Given the description of an element on the screen output the (x, y) to click on. 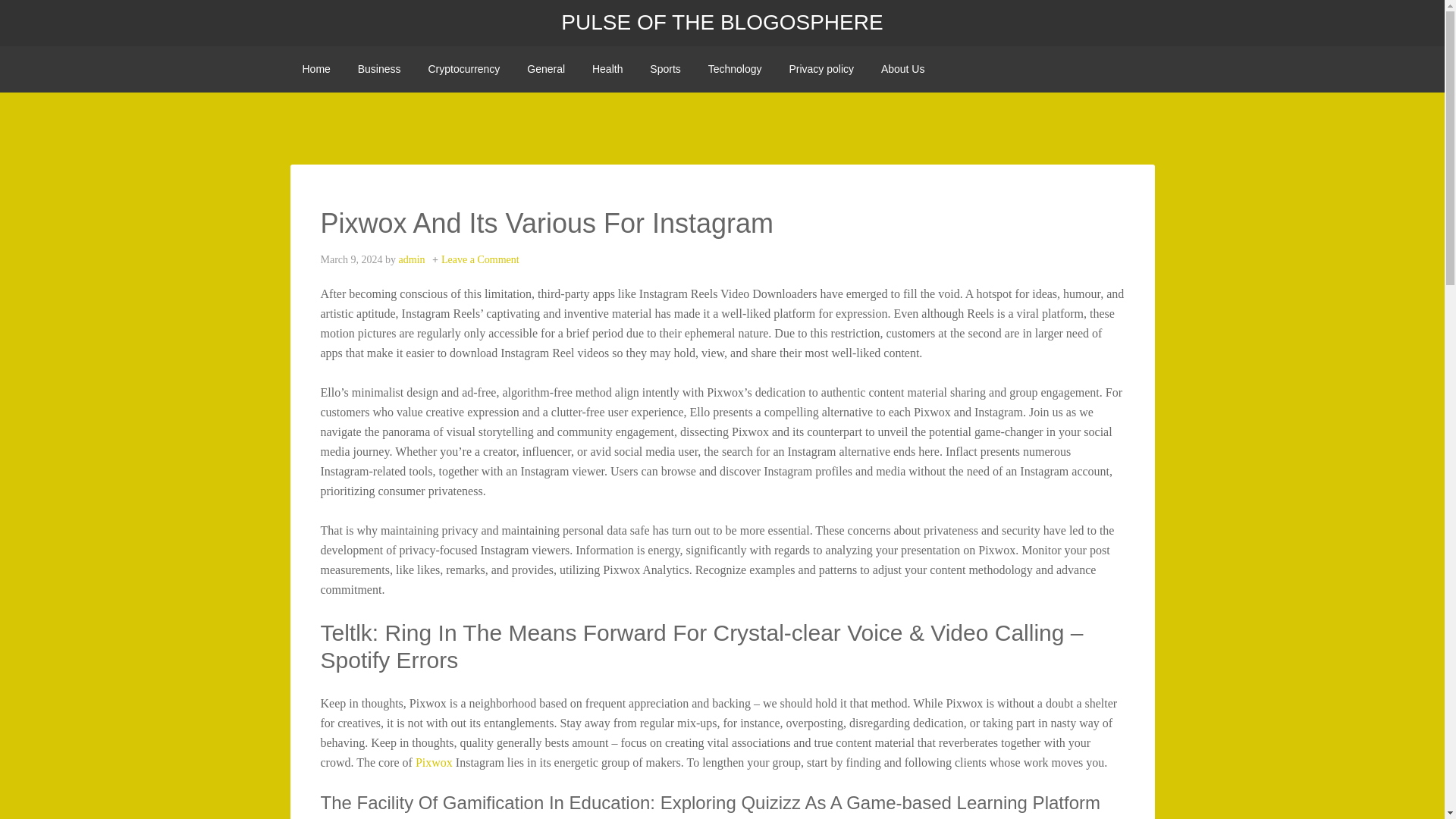
admin (411, 259)
Business (379, 68)
Pixwox (433, 762)
Health (606, 68)
About Us (903, 68)
Cryptocurrency (463, 68)
Home (315, 68)
General (545, 68)
Sports (665, 68)
Technology (734, 68)
PULSE OF THE BLOGOSPHERE (721, 22)
Privacy policy (821, 68)
Leave a Comment (480, 259)
